Given the description of an element on the screen output the (x, y) to click on. 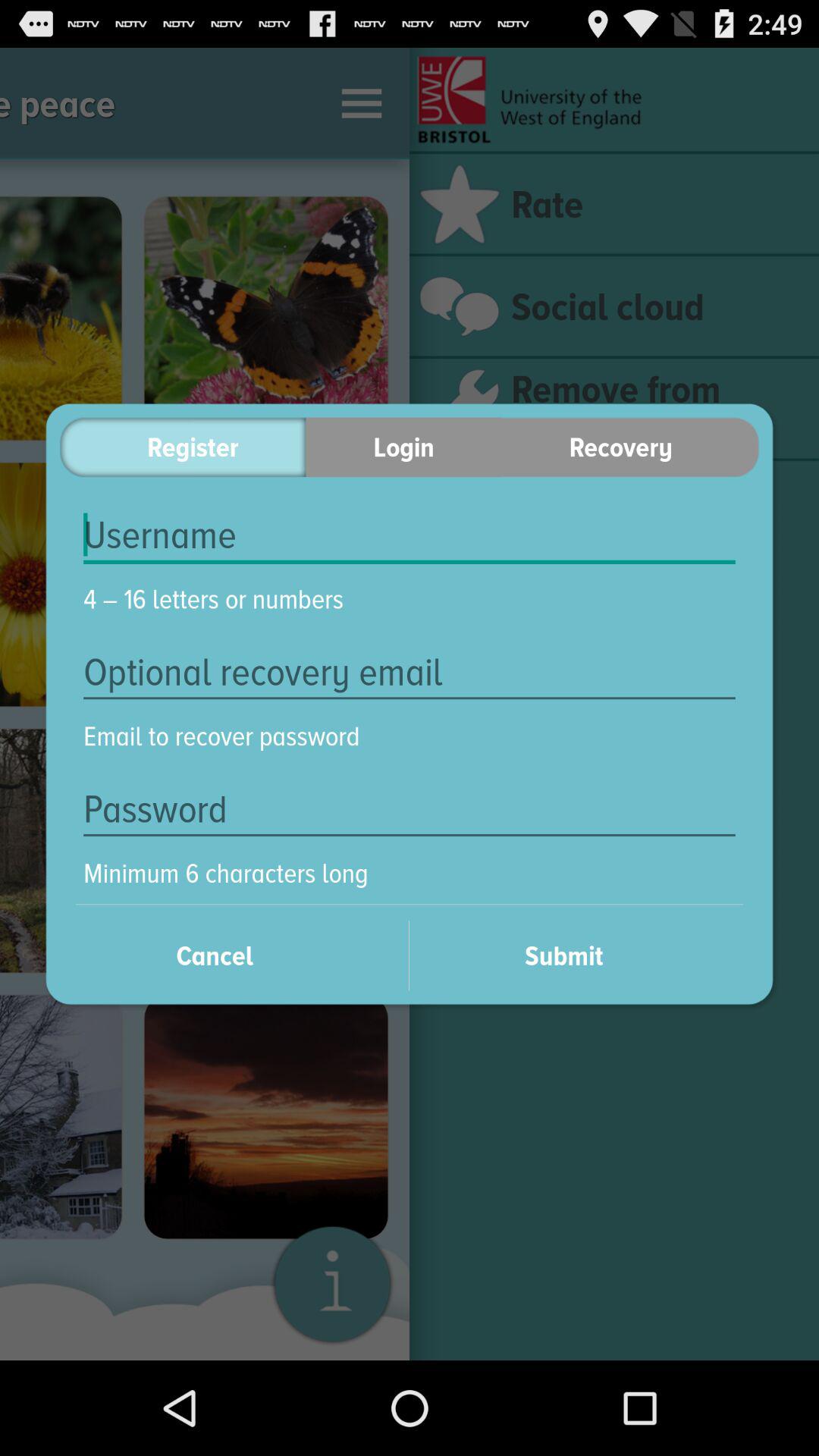
insert username (409, 535)
